Given the description of an element on the screen output the (x, y) to click on. 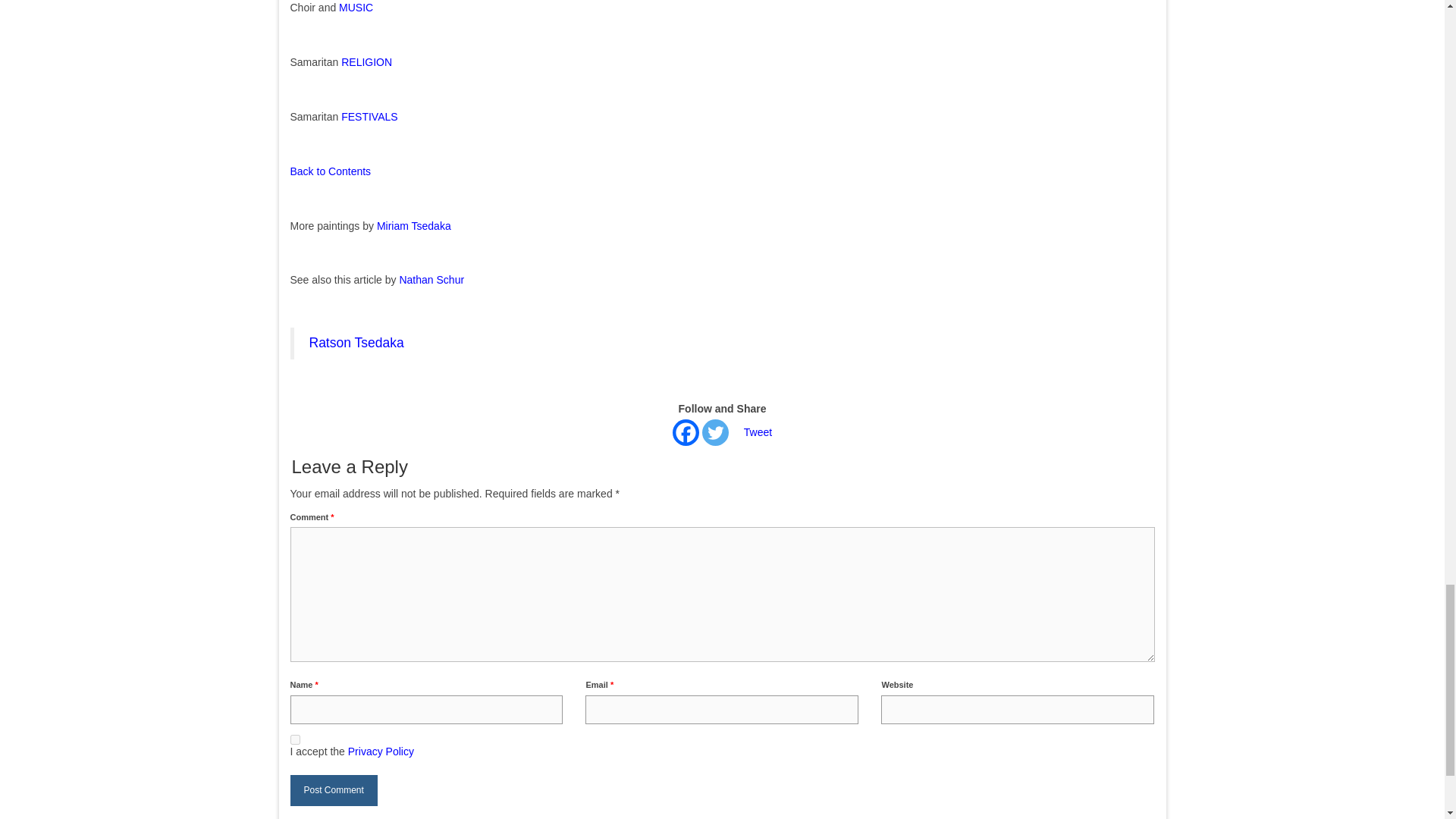
Post Comment (333, 789)
1 (294, 739)
